Given the description of an element on the screen output the (x, y) to click on. 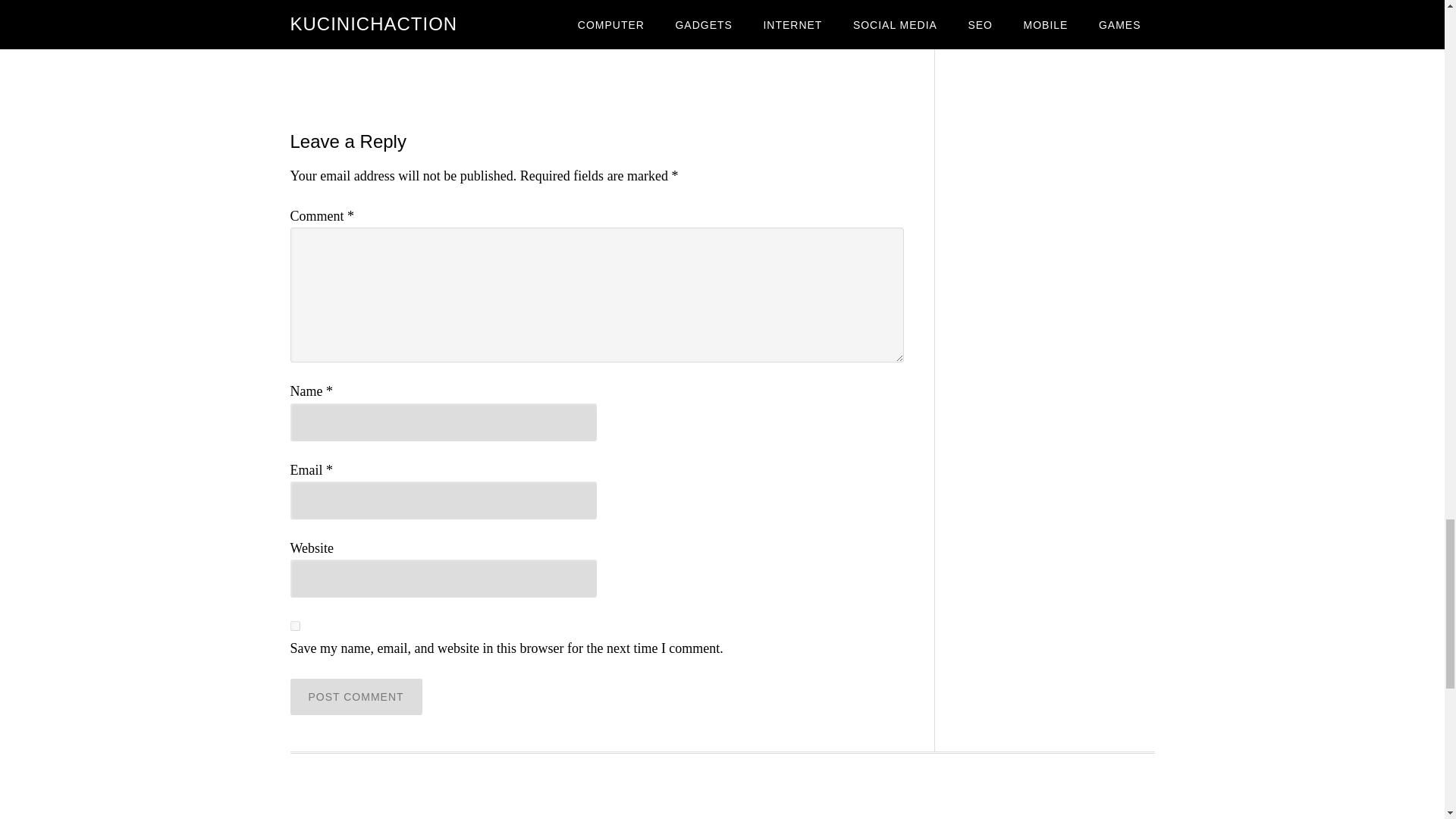
Advertisement (721, 801)
yes (294, 625)
Advertisement (595, 61)
Post Comment (355, 696)
Post Comment (355, 696)
